Given the description of an element on the screen output the (x, y) to click on. 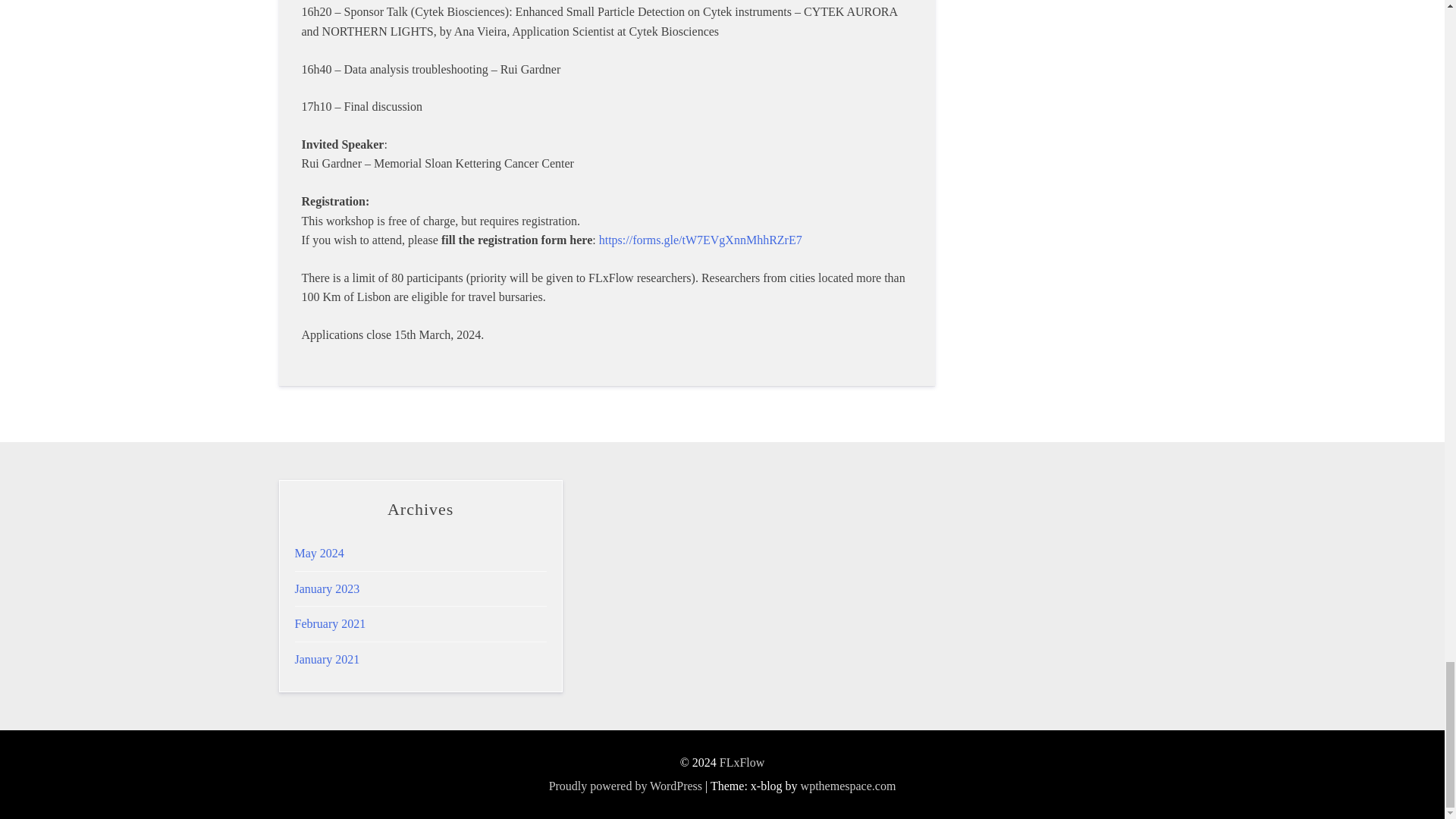
January 2023 (326, 588)
February 2021 (329, 623)
May 2024 (318, 553)
January 2021 (326, 658)
